Given the description of an element on the screen output the (x, y) to click on. 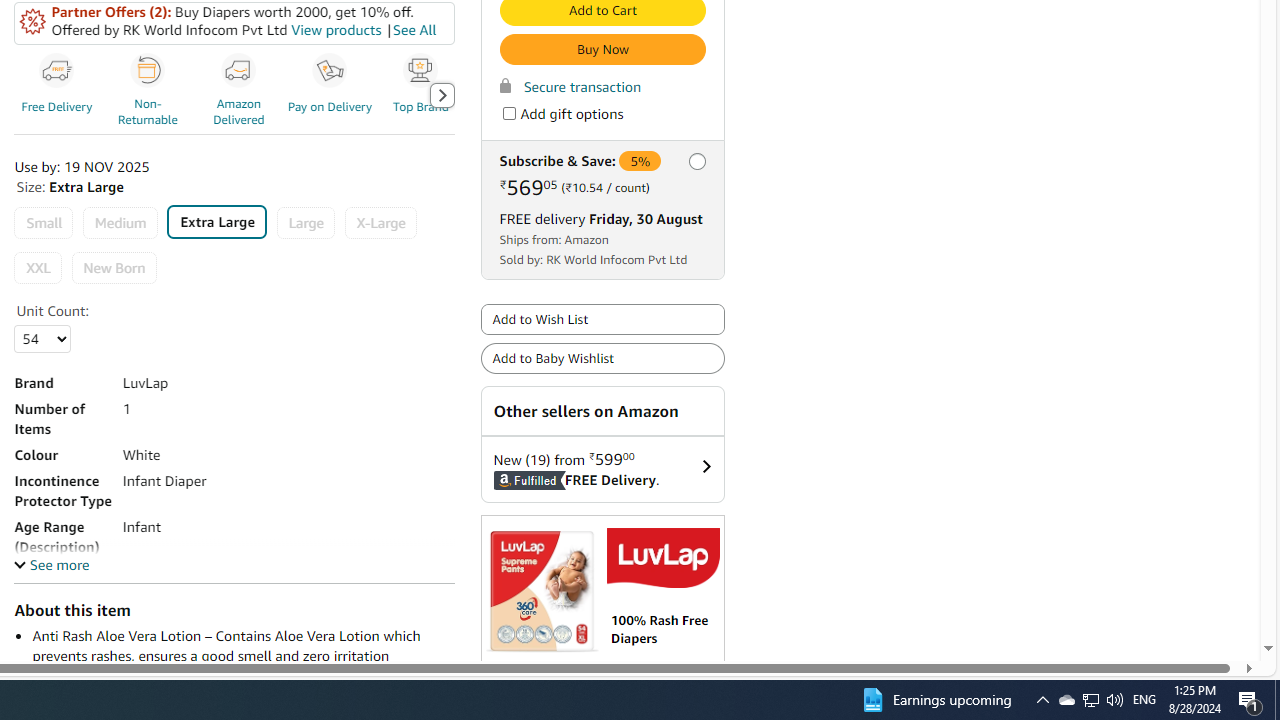
XXL (38, 267)
AutomationID: native_dropdown_selected_unit_count (42, 339)
5% (640, 161)
Secure transaction (570, 86)
FREE delivery (542, 219)
Buy Now (602, 49)
Add to Wish List (602, 319)
Next page (441, 95)
 View products (333, 30)
Free Delivery (56, 71)
Extra Large (216, 222)
Top Brand (423, 94)
X-Large (380, 223)
Fulfilled (504, 480)
